Given the description of an element on the screen output the (x, y) to click on. 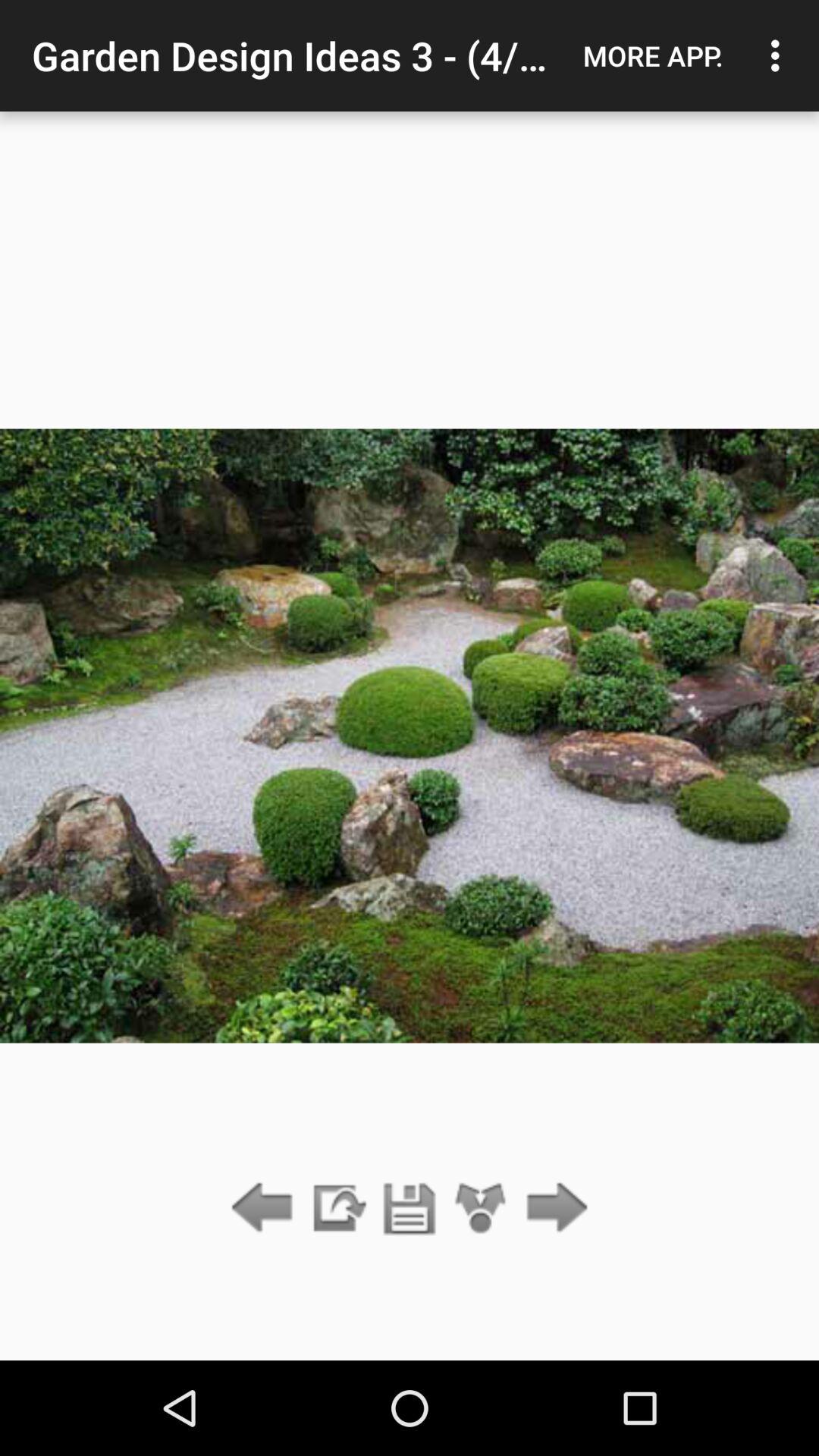
toggle share (480, 1208)
